Given the description of an element on the screen output the (x, y) to click on. 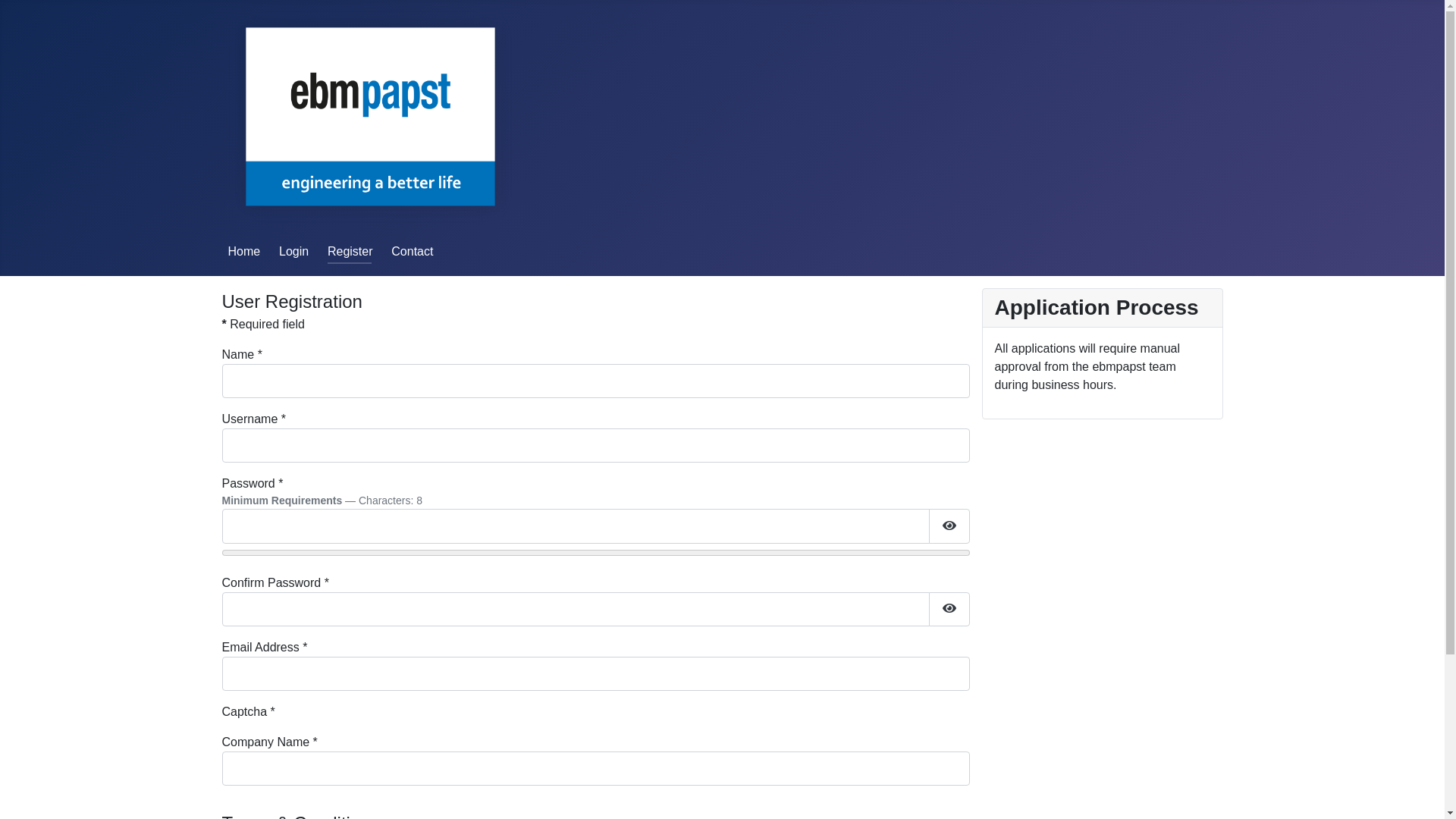
Login Element type: text (293, 250)
Home Element type: text (243, 250)
Contact Element type: text (412, 250)
Show Password Element type: text (948, 609)
Show Password Element type: text (948, 525)
Register Element type: text (350, 250)
